Given the description of an element on the screen output the (x, y) to click on. 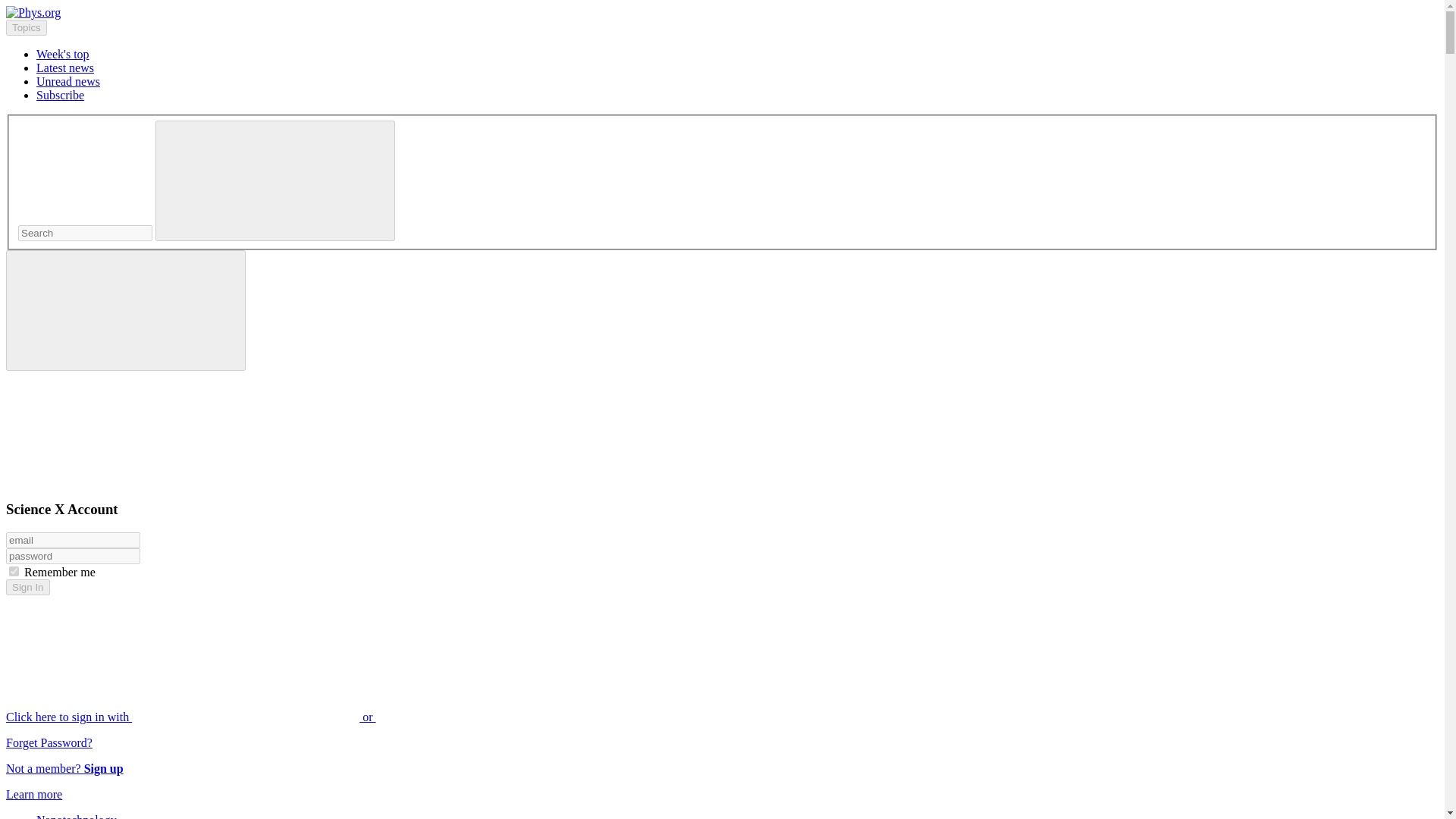
Unread news (68, 81)
Topics (25, 27)
Week's top (62, 53)
Latest news (65, 67)
on (13, 571)
Learn more (33, 793)
Not a member? Sign up (64, 768)
Sign In (27, 587)
Click here to sign in with or (304, 716)
Nanotechnology (76, 816)
